Given the description of an element on the screen output the (x, y) to click on. 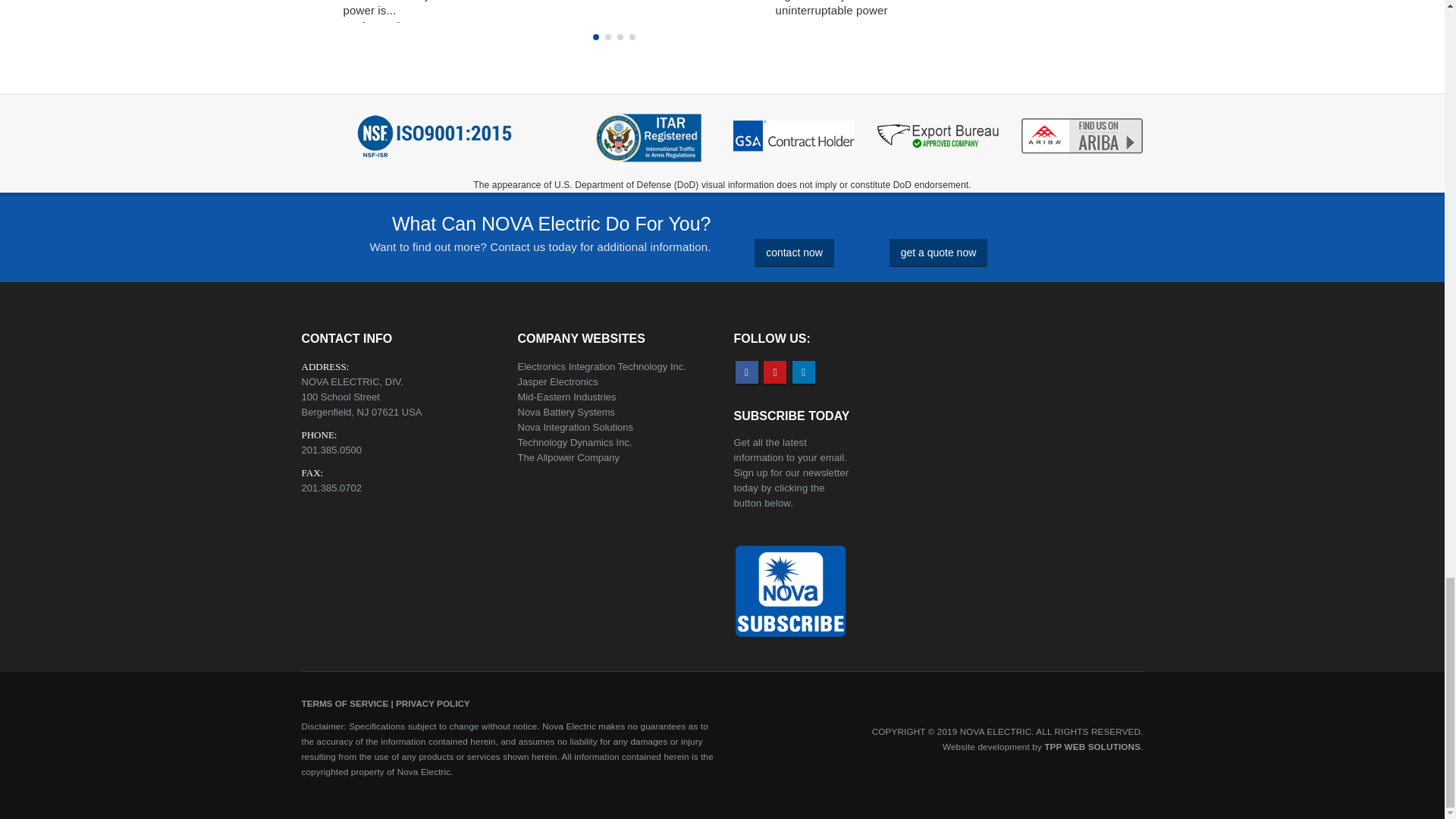
footer-lgc-4 (1082, 136)
footer-lgc-2 (793, 135)
footer-lgc-5 (433, 135)
footer-lgc-1c (649, 141)
footer-lgc-3 (937, 136)
